Given the description of an element on the screen output the (x, y) to click on. 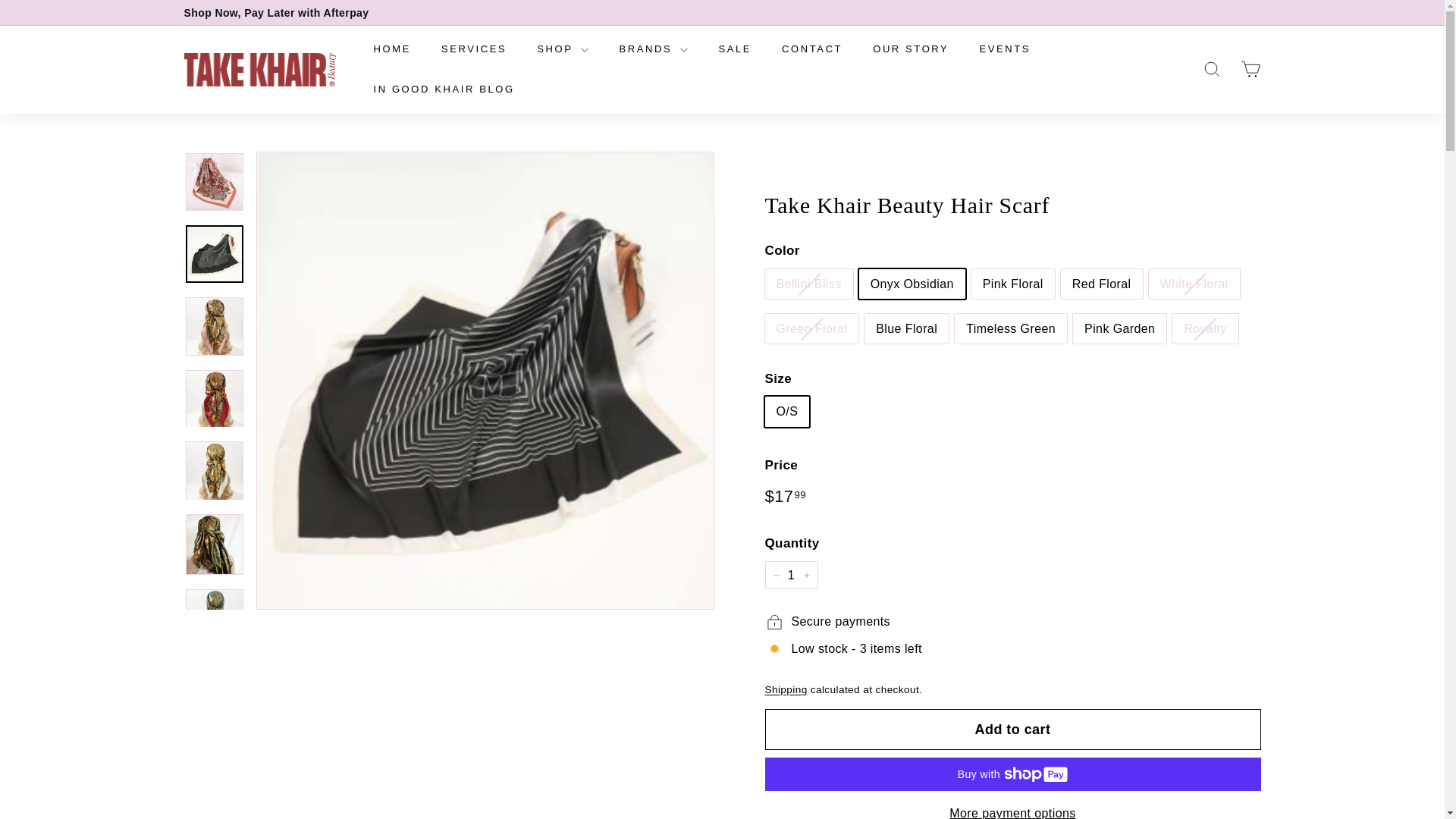
SERVICES (473, 49)
1 (790, 575)
HOME (391, 49)
